Given the description of an element on the screen output the (x, y) to click on. 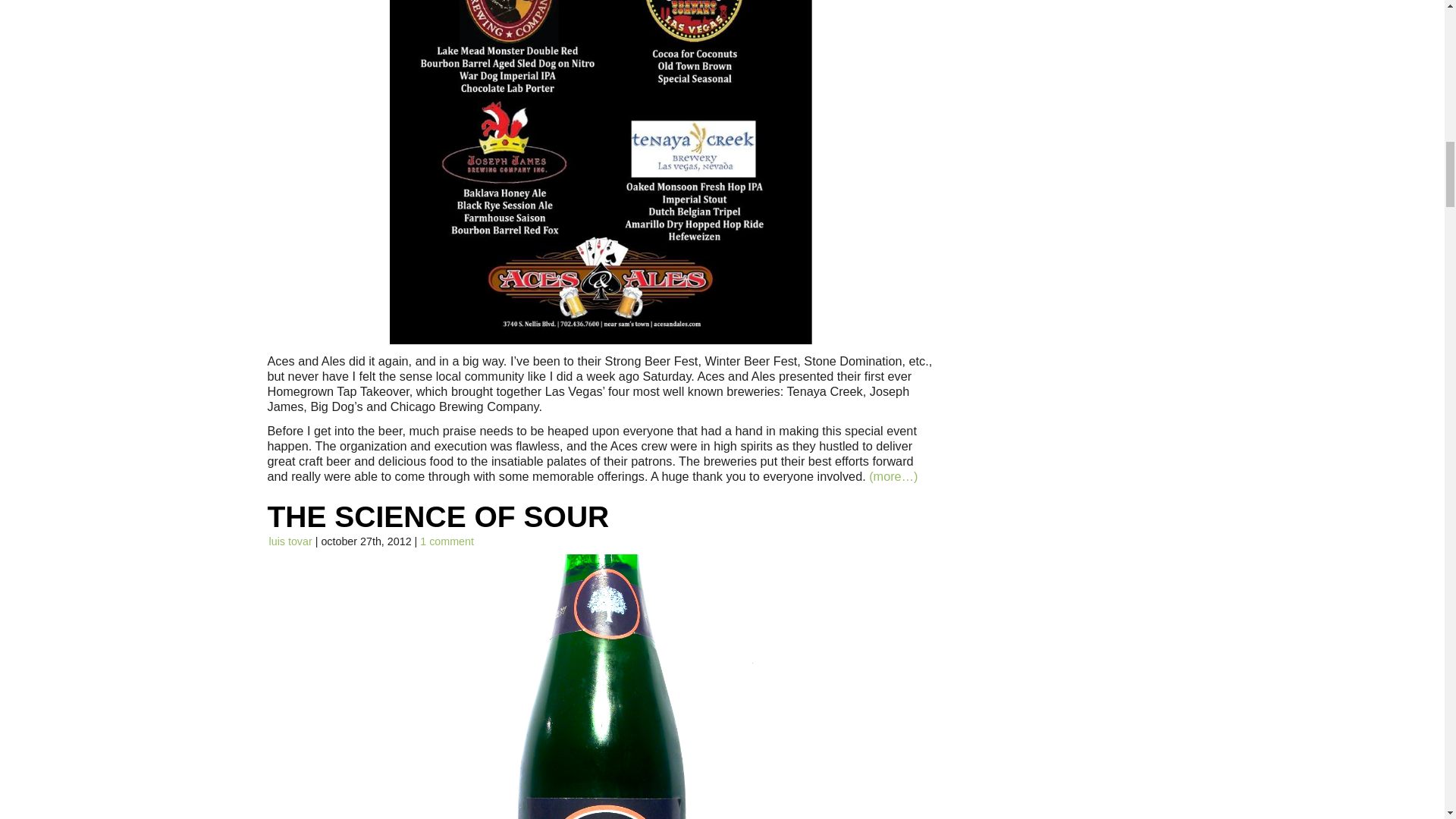
Permanent Link to The Science of Sour (437, 516)
THE SCIENCE OF SOUR (437, 516)
Posts by Luis Tovar (289, 541)
luis tovar (289, 541)
1 comment (447, 541)
